Given the description of an element on the screen output the (x, y) to click on. 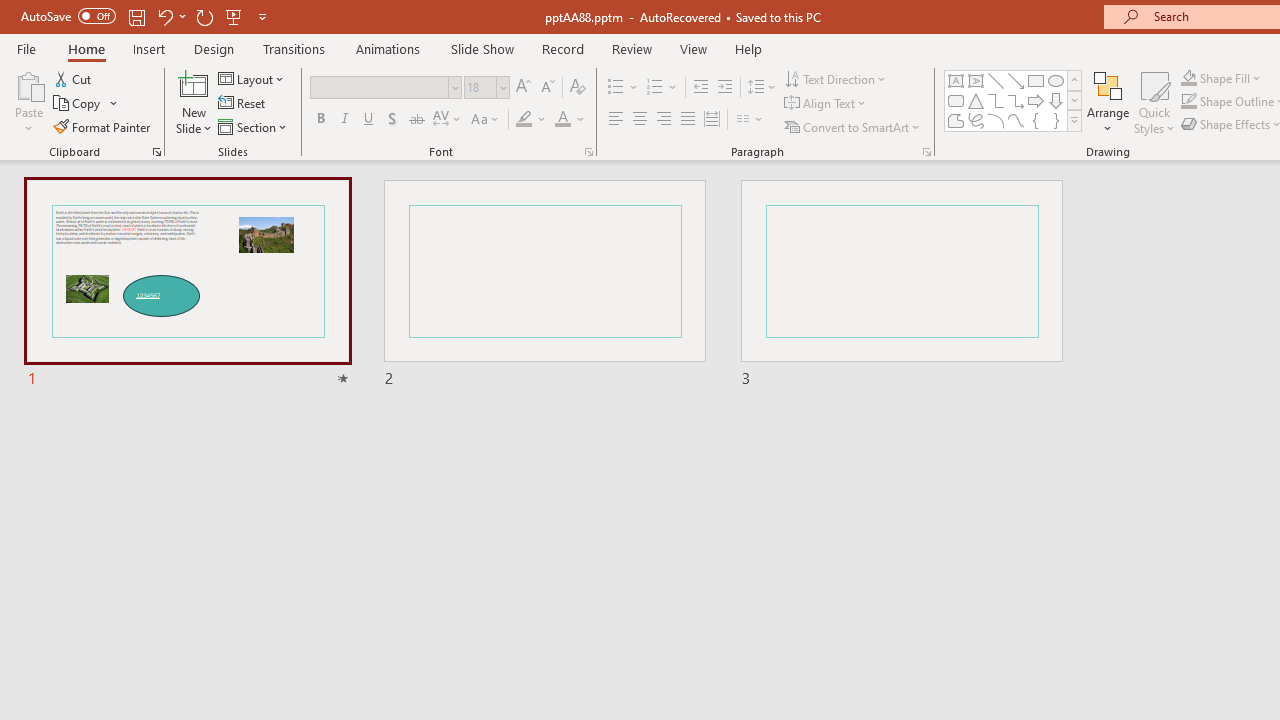
Columns (750, 119)
Freeform: Scribble (975, 120)
Freeform: Shape (955, 120)
Shape Outline Teal, Accent 1 (1188, 101)
Arc (995, 120)
Oval (1055, 80)
AutomationID: ShapesInsertGallery (1014, 100)
